Given the description of an element on the screen output the (x, y) to click on. 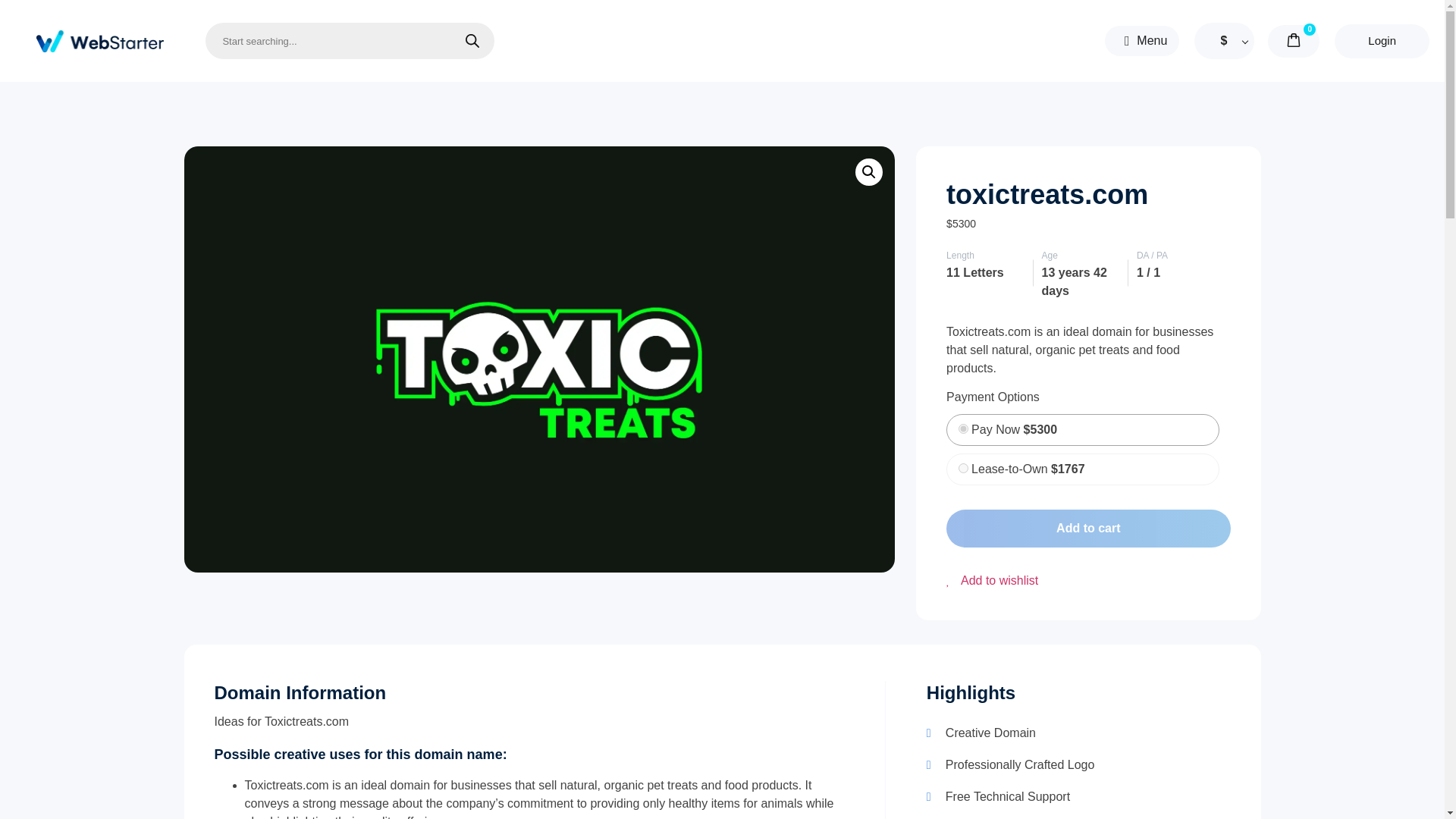
0 (963, 429)
